Given the description of an element on the screen output the (x, y) to click on. 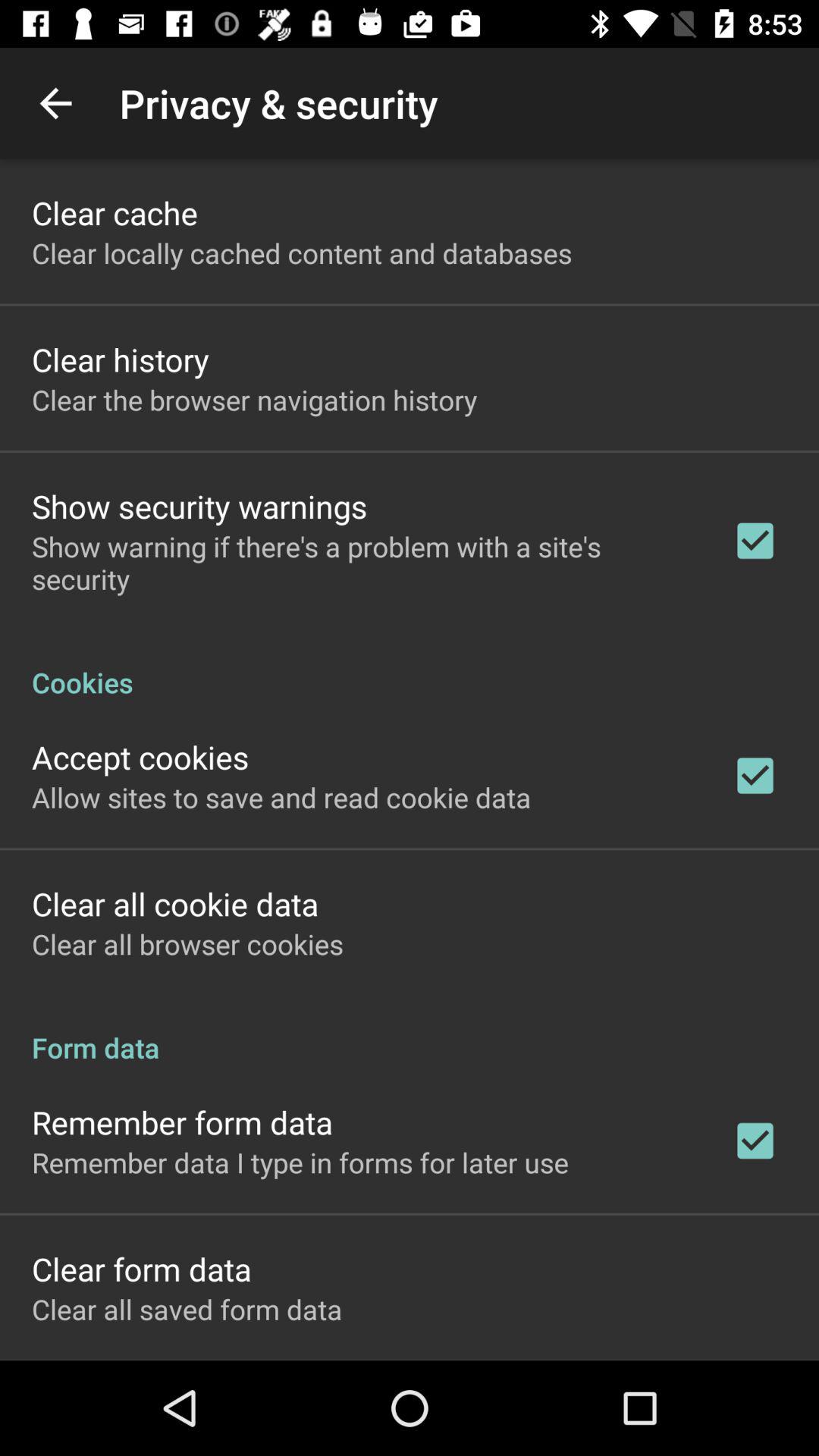
choose icon above the clear cache app (55, 103)
